Given the description of an element on the screen output the (x, y) to click on. 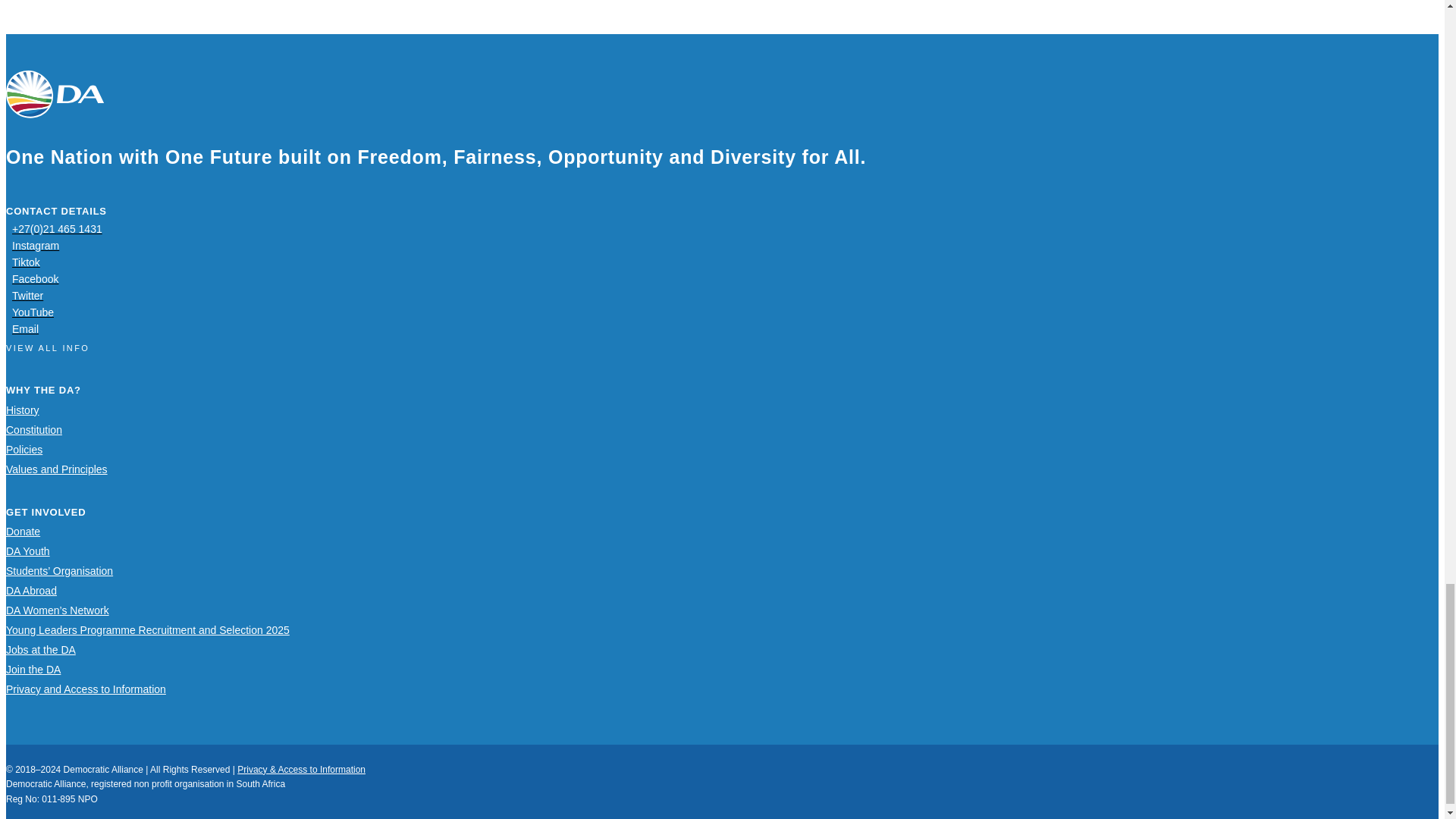
Democratic Alliance Logo (54, 93)
